Given the description of an element on the screen output the (x, y) to click on. 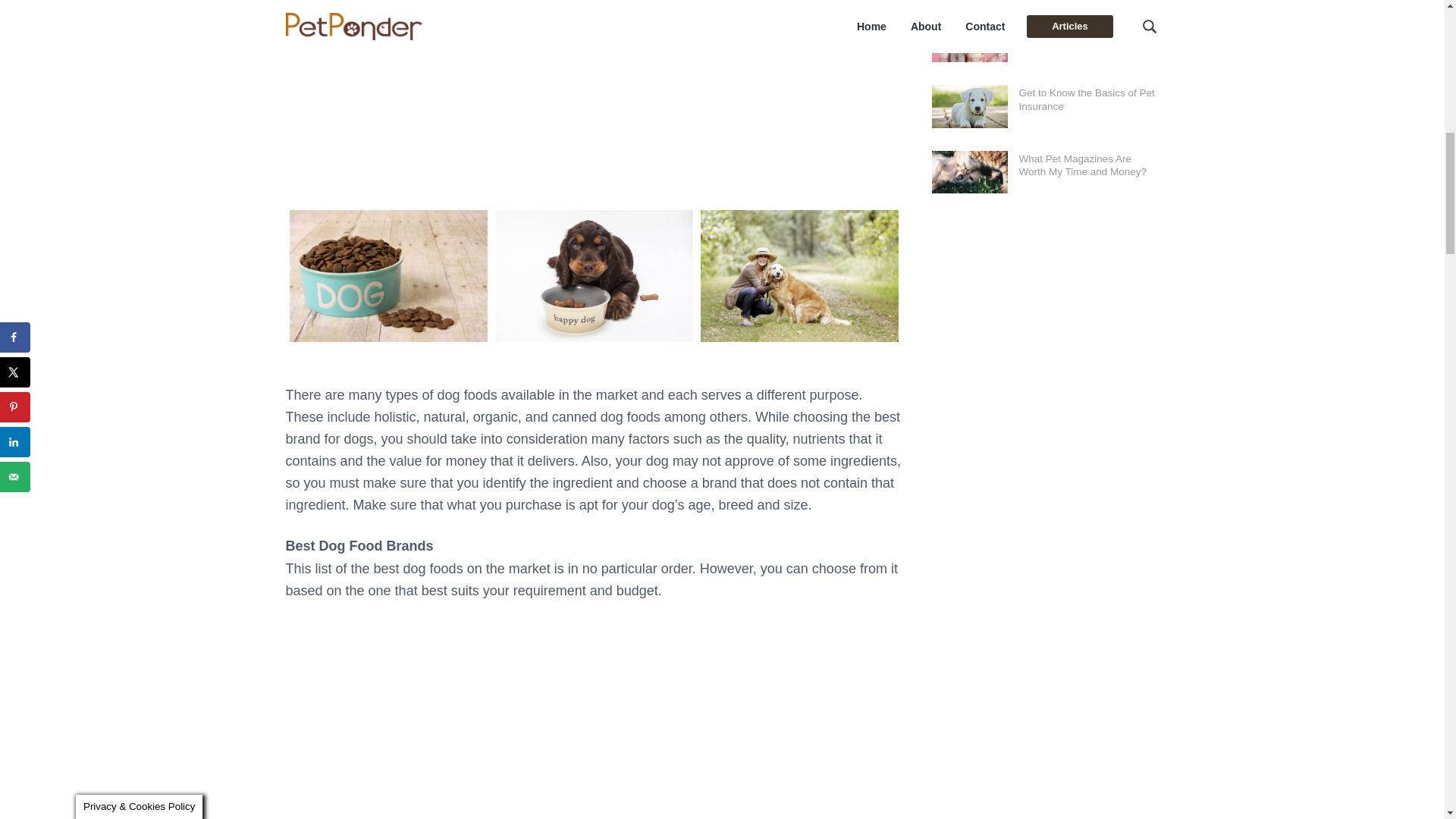
Insticator Content Engagement Unit (593, 719)
